Given the description of an element on the screen output the (x, y) to click on. 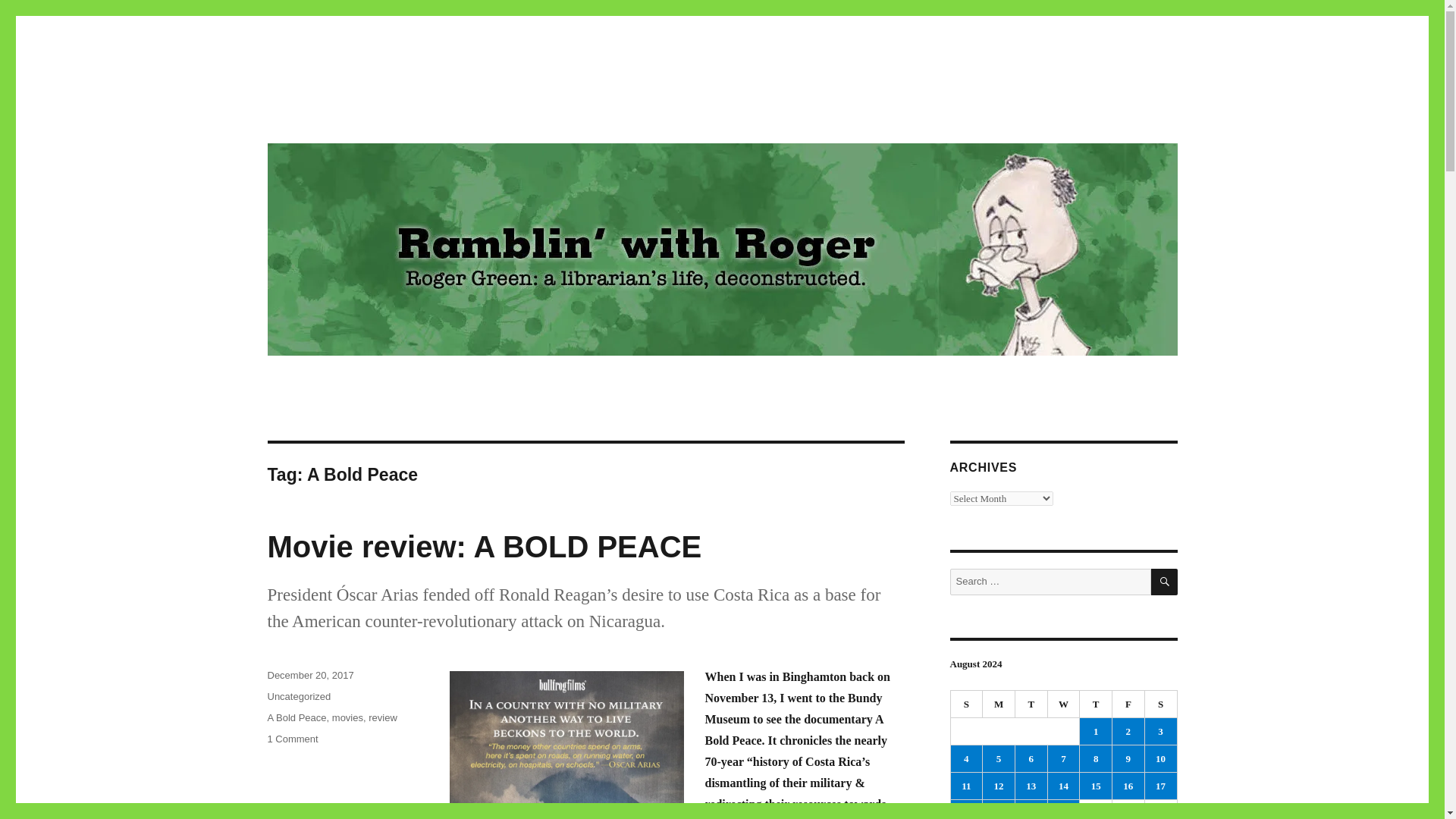
Monday (998, 704)
14 (1064, 786)
Movie review: A BOLD PEACE (483, 546)
A Bold Peace (296, 717)
16 (1128, 786)
1 (1096, 731)
review (382, 717)
Wednesday (1064, 704)
movies (346, 717)
15 (1096, 786)
